Given the description of an element on the screen output the (x, y) to click on. 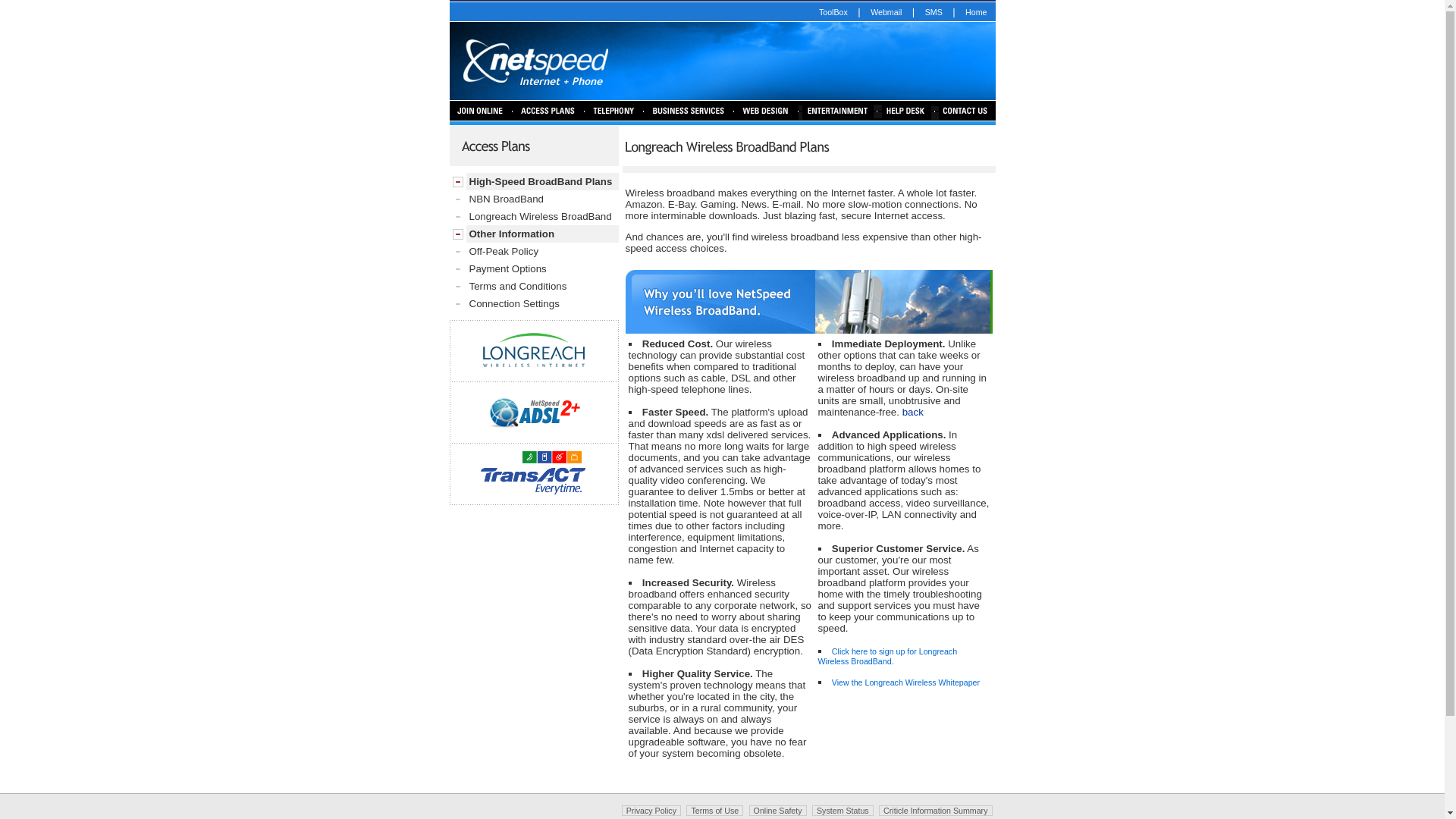
Criticle Information Summary Element type: text (934, 810)
Online Safety Element type: text (777, 810)
View the Longreach Wireless Whitepaper Element type: text (905, 682)
Terms of Use Element type: text (714, 810)
NBN BroadBand Element type: text (533, 198)
Terms and Conditions Element type: text (533, 285)
Home Element type: text (975, 11)
Click here to sign up for Longreach Wireless BroadBand. Element type: text (887, 655)
System Status Element type: text (842, 810)
Off-Peak Policy Element type: text (533, 251)
Connection Settings Element type: text (533, 303)
ToolBox Element type: text (833, 11)
Longreach Wireless BroadBand Element type: text (533, 216)
Webmail Element type: text (886, 11)
SMS Element type: text (933, 11)
Payment Options Element type: text (533, 268)
Privacy Policy Element type: text (650, 810)
back Element type: text (912, 411)
